Given the description of an element on the screen output the (x, y) to click on. 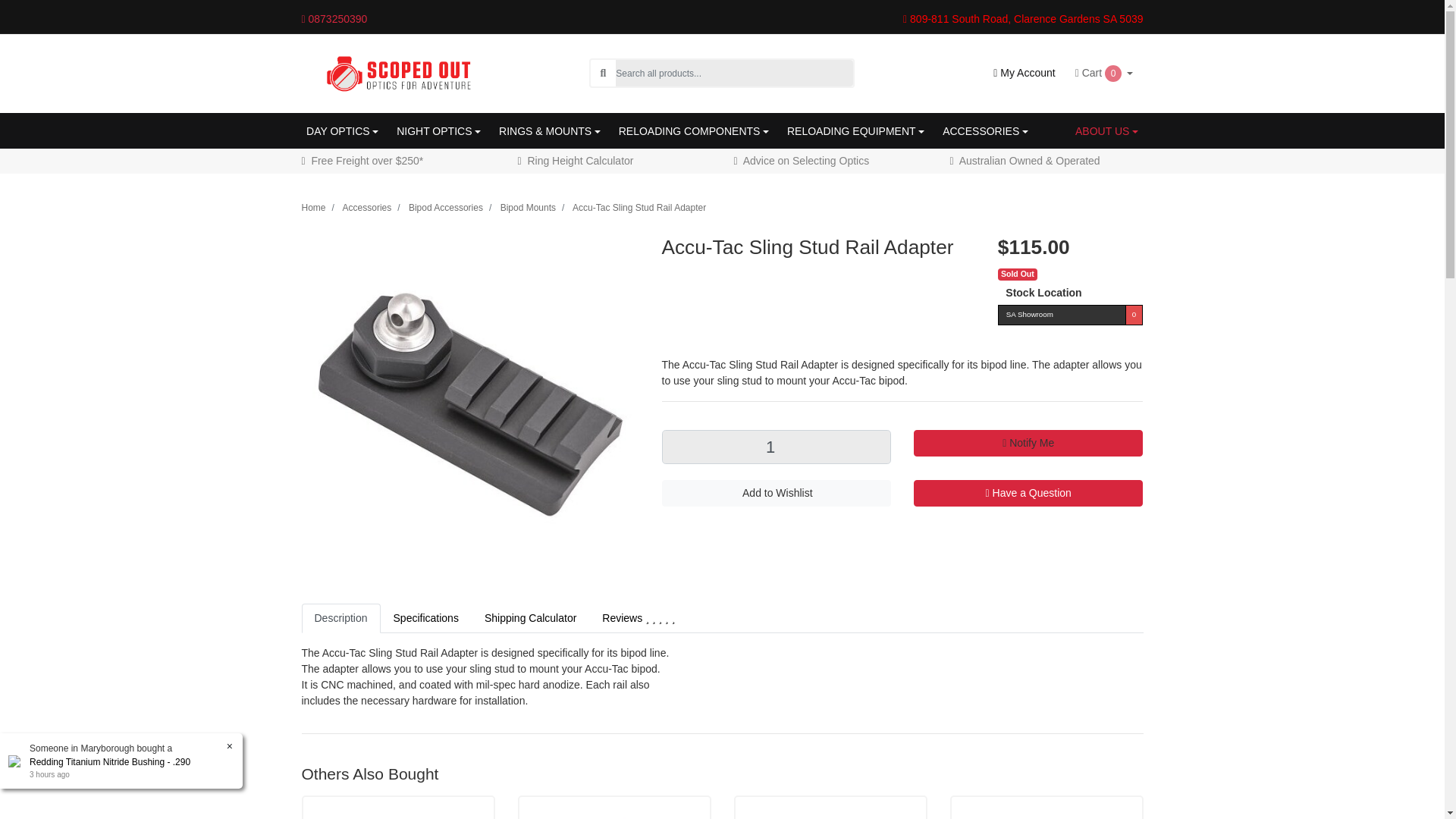
Cart 0 (1103, 72)
0873250390 (352, 18)
My Account (1024, 72)
Search (602, 72)
DAY OPTICS (342, 131)
1 (775, 446)
Scoped Out (398, 72)
809-811 South Road, Clarence Gardens SA 5039 (1022, 19)
